Given the description of an element on the screen output the (x, y) to click on. 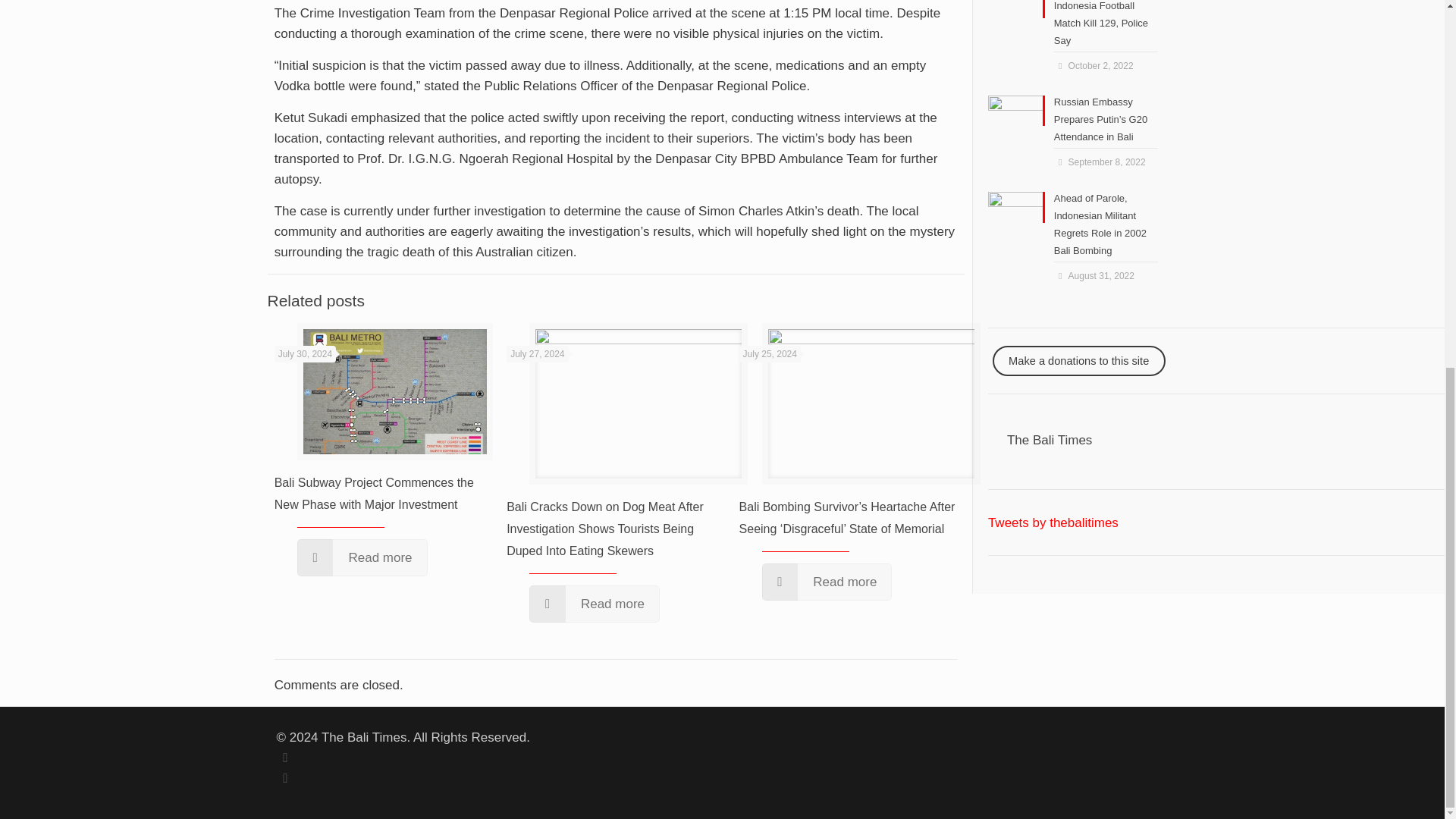
Facebook (285, 757)
Twitter (285, 778)
